Given the description of an element on the screen output the (x, y) to click on. 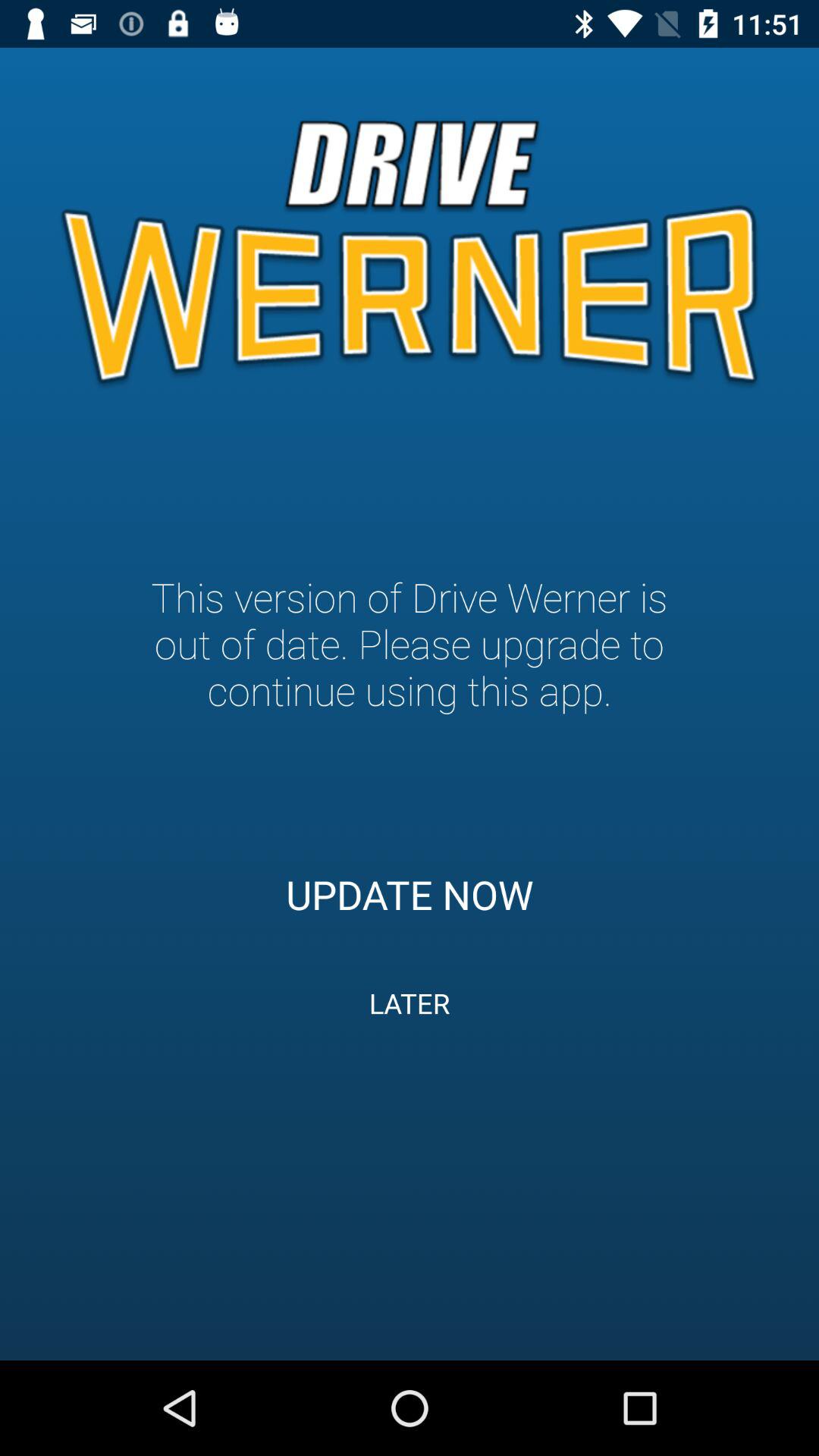
open item above later icon (409, 894)
